Given the description of an element on the screen output the (x, y) to click on. 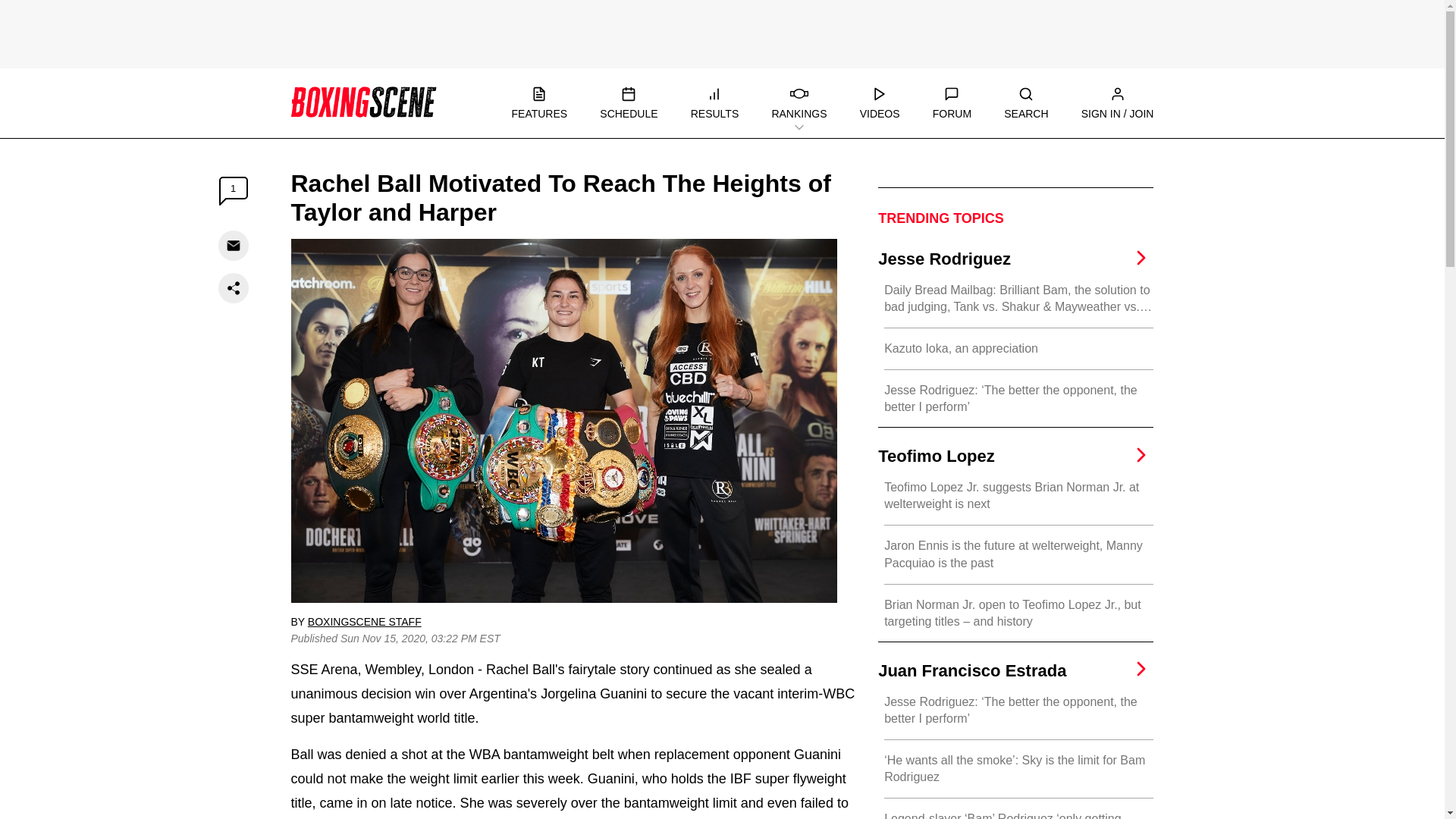
FORUM (952, 102)
SCHEDULE (628, 102)
RANKINGS (799, 102)
1 (233, 191)
RESULTS (714, 102)
FEATURES (539, 102)
SEARCH (1026, 102)
BOXINGSCENE STAFF (364, 621)
VIDEOS (879, 102)
